Given the description of an element on the screen output the (x, y) to click on. 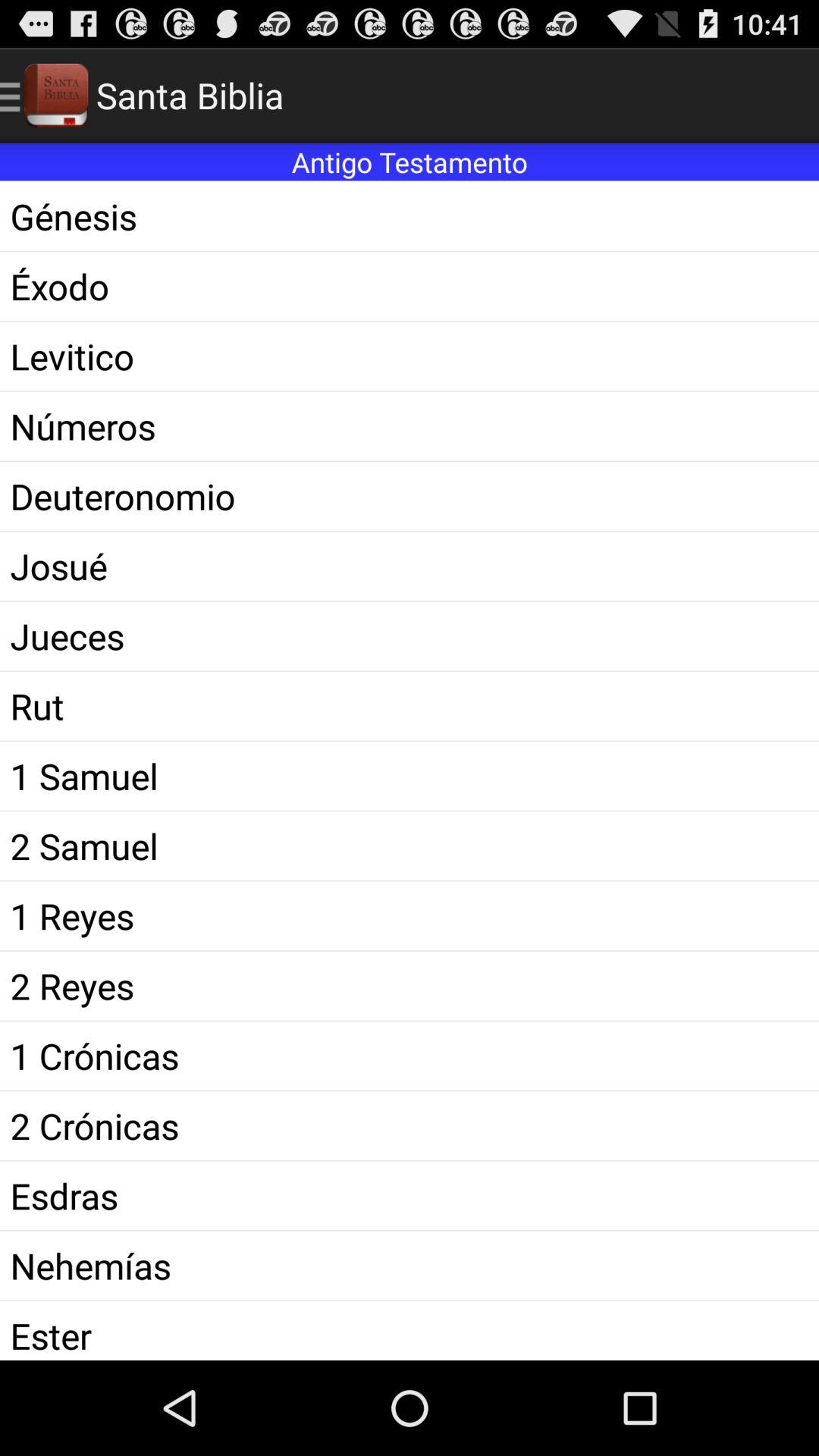
launch the antigo testamento icon (409, 161)
